Given the description of an element on the screen output the (x, y) to click on. 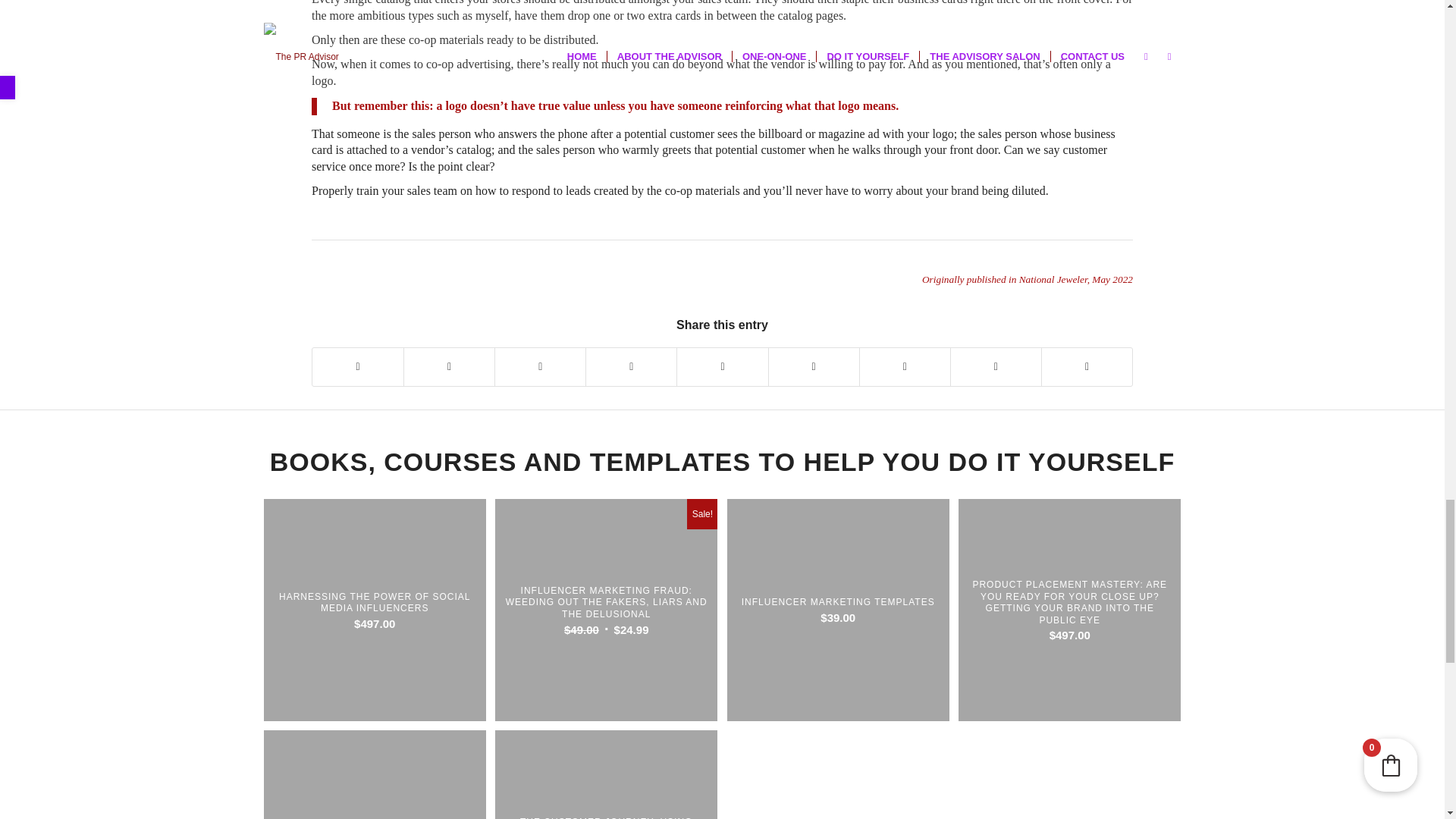
Originally published in National Jeweler, May 2022 (1026, 279)
